Given the description of an element on the screen output the (x, y) to click on. 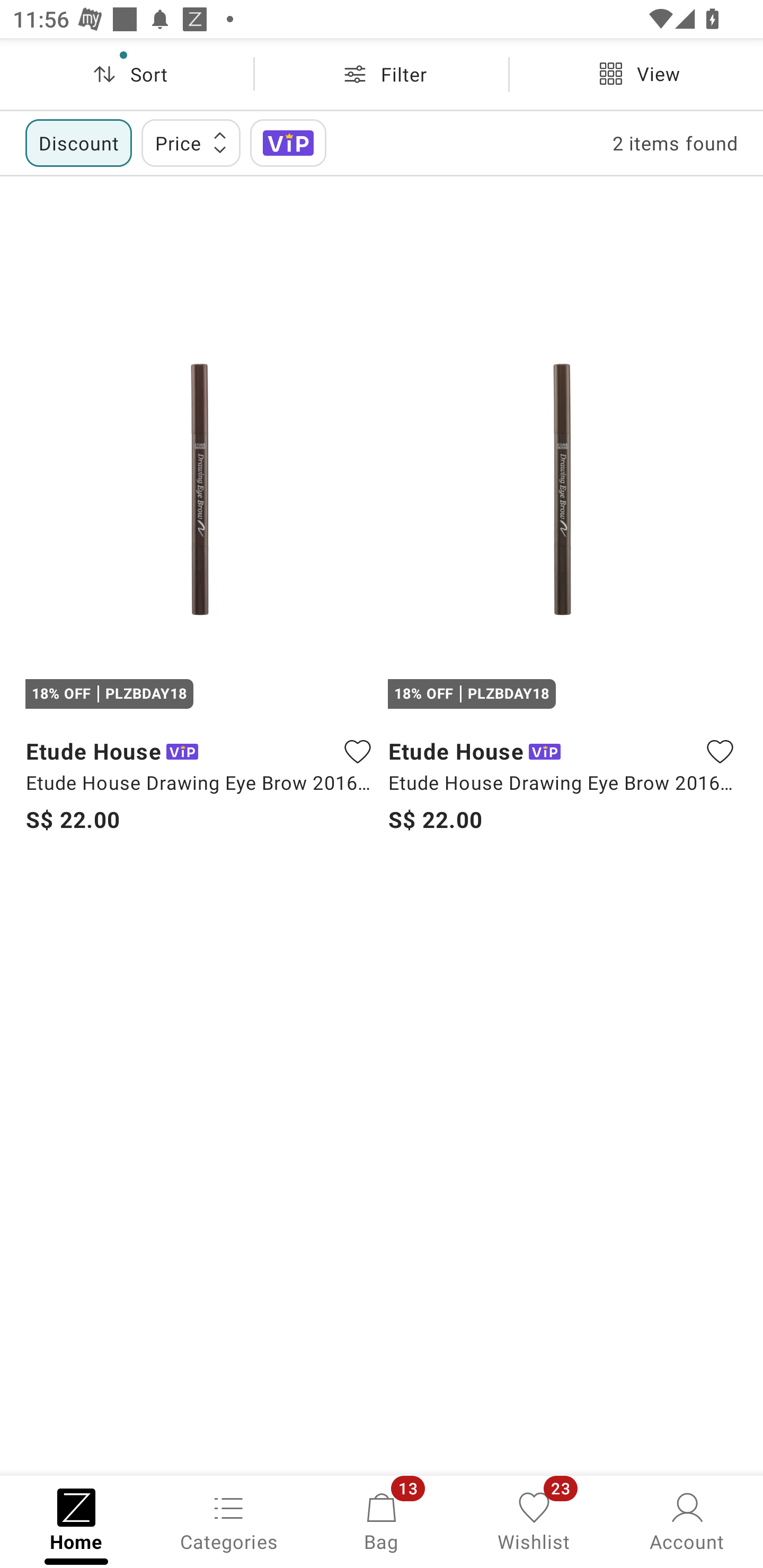
Sort (126, 73)
Filter (381, 73)
View (636, 73)
Discount (78, 142)
Price (190, 142)
Categories (228, 1519)
Bag, 13 new notifications Bag (381, 1519)
Wishlist, 23 new notifications Wishlist (533, 1519)
Account (686, 1519)
